Given the description of an element on the screen output the (x, y) to click on. 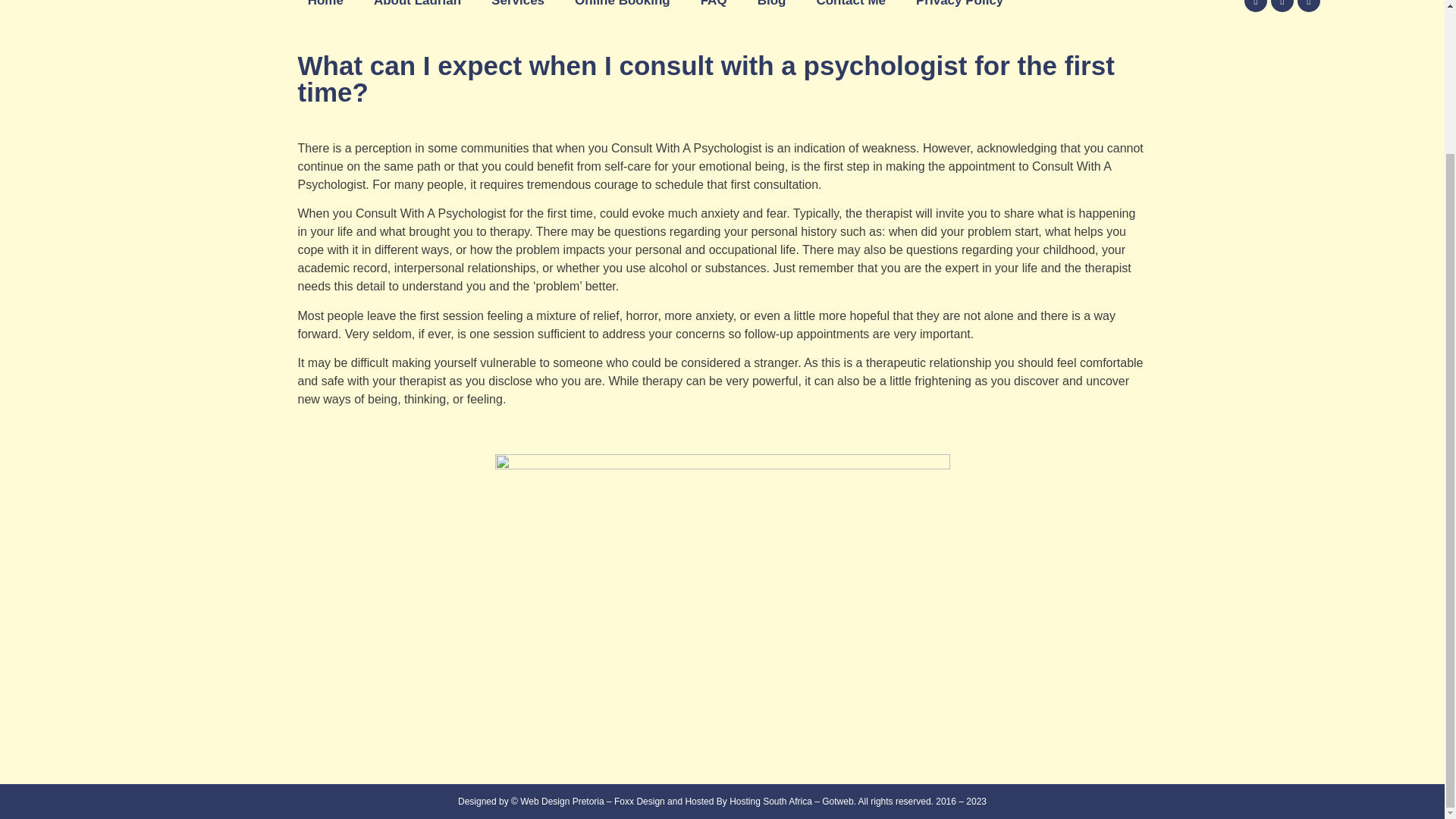
Online Booking (622, 9)
Services (517, 9)
Home (325, 9)
Contact Me (850, 9)
Blog (772, 9)
Privacy Policy (959, 9)
About Laurian (417, 9)
FAQ (713, 9)
